Given the description of an element on the screen output the (x, y) to click on. 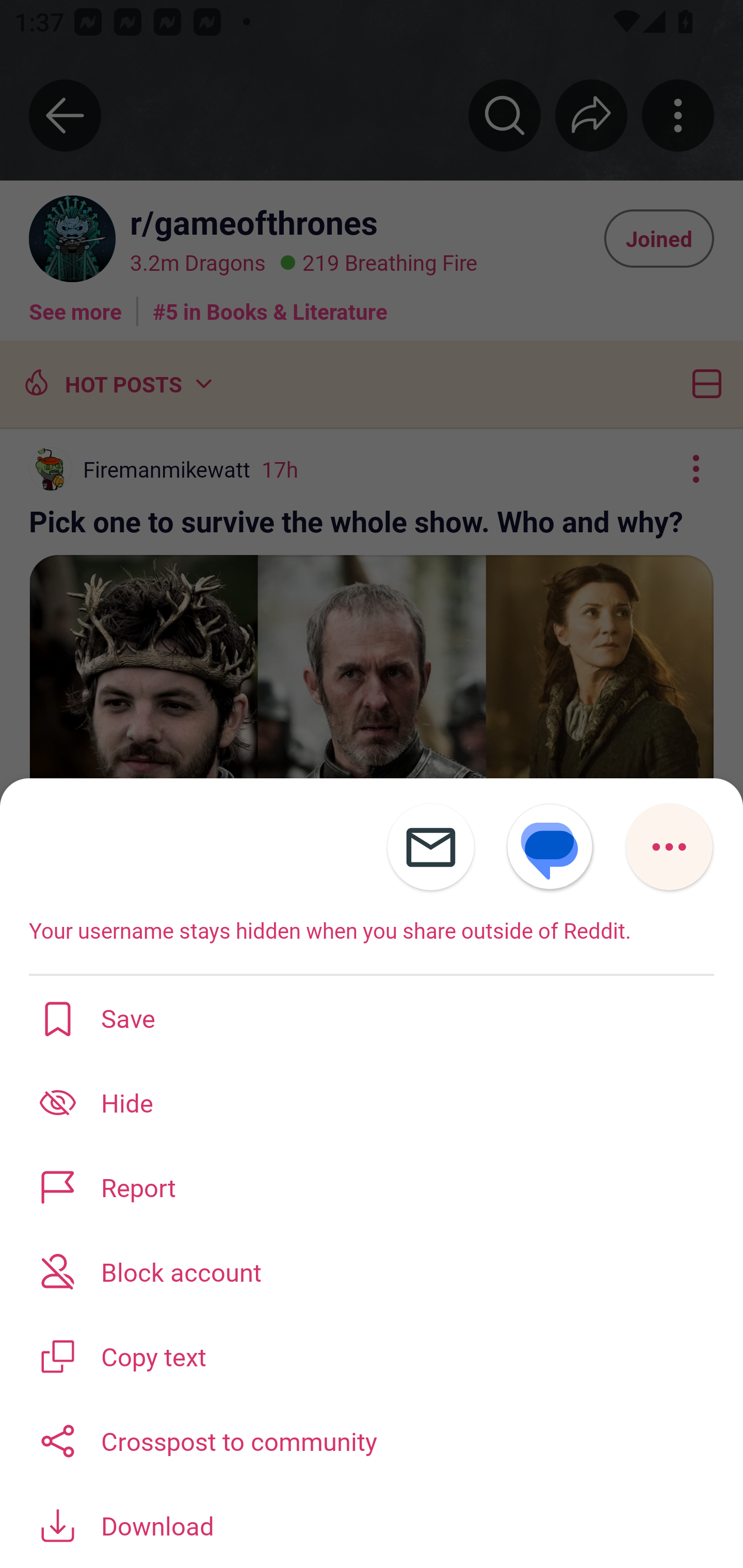
Email (430, 847)
SMS (549, 847)
More (668, 847)
Save (371, 1017)
Hide (371, 1101)
Report (371, 1186)
Block account (371, 1271)
Copy text (371, 1355)
Crosspost to community (371, 1439)
Download (371, 1524)
